Given the description of an element on the screen output the (x, y) to click on. 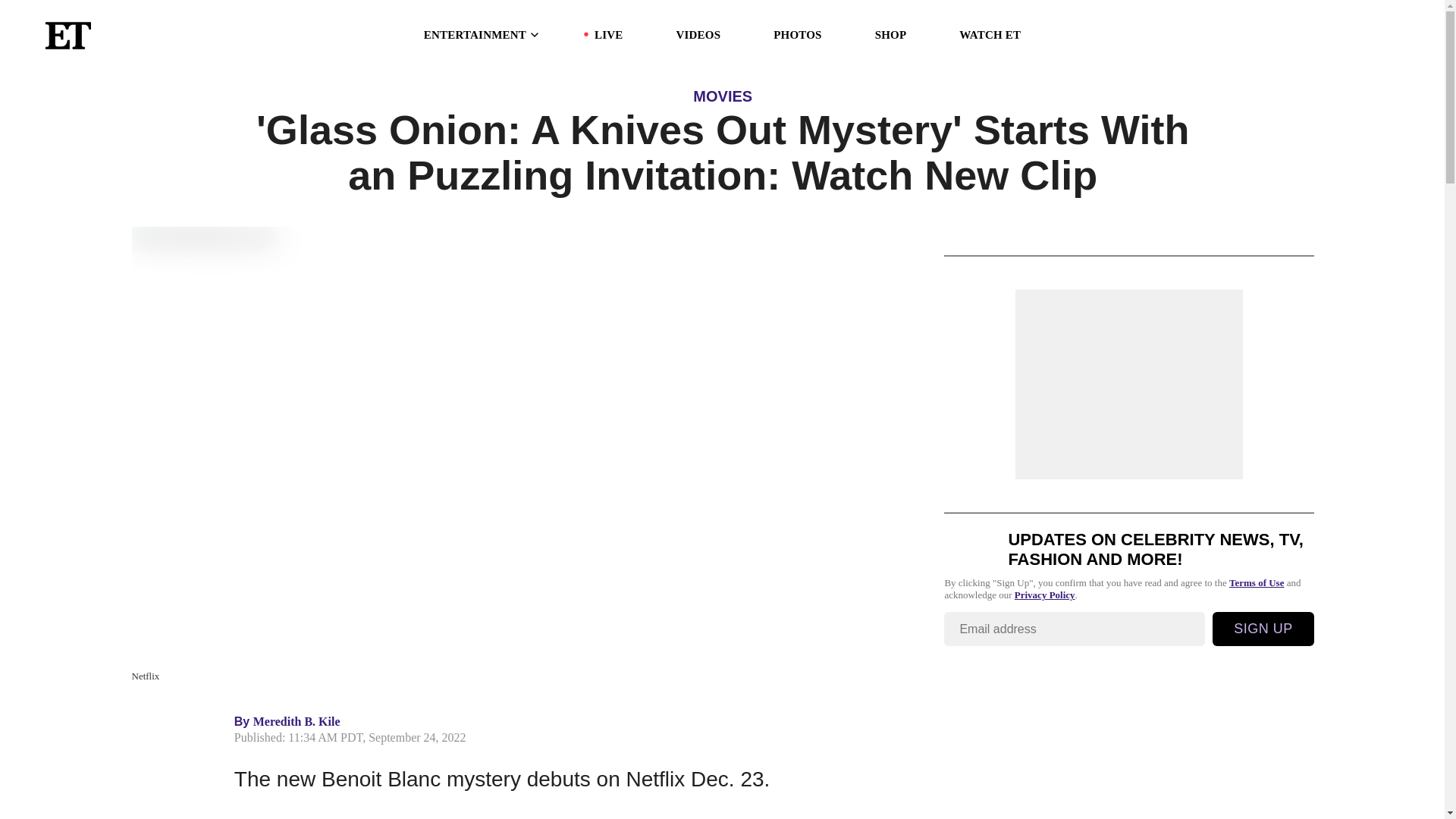
WATCH ET (989, 34)
Meredith B. Kile (296, 721)
SHOP (891, 34)
ENTERTAINMENT (482, 34)
MOVIES (722, 95)
PHOTOS (797, 34)
LIVE (608, 34)
VIDEOS (697, 34)
